Given the description of an element on the screen output the (x, y) to click on. 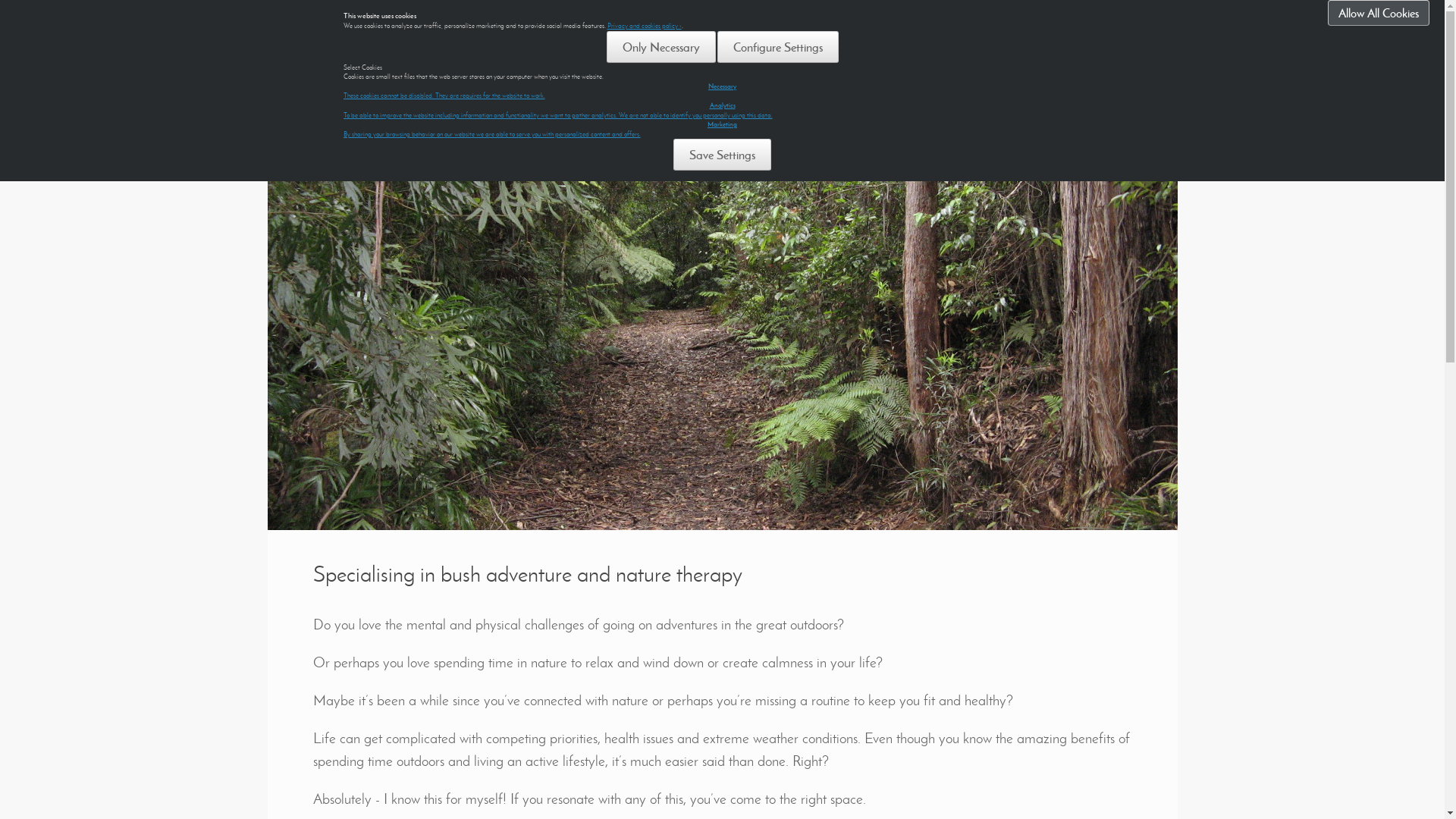
Blog Element type: text (561, 162)
Save Settings Element type: text (722, 154)
Shop Element type: text (526, 162)
About Element type: text (438, 162)
Podcasts Element type: text (612, 162)
Ambassadors Element type: text (681, 162)
Facebook Element type: hover (966, 71)
Home Element type: text (333, 162)
Contact Element type: text (483, 162)
Kathryn Walton Consulting Element type: hover (478, 71)
Only Necessary Element type: text (660, 46)
Subscribe Element type: text (1094, 69)
Allow All Cookies Element type: text (1378, 12)
Configure Settings Element type: text (777, 46)
Services Element type: text (386, 162)
YouTube Element type: hover (1026, 71)
Email Element type: hover (996, 71)
